Given the description of an element on the screen output the (x, y) to click on. 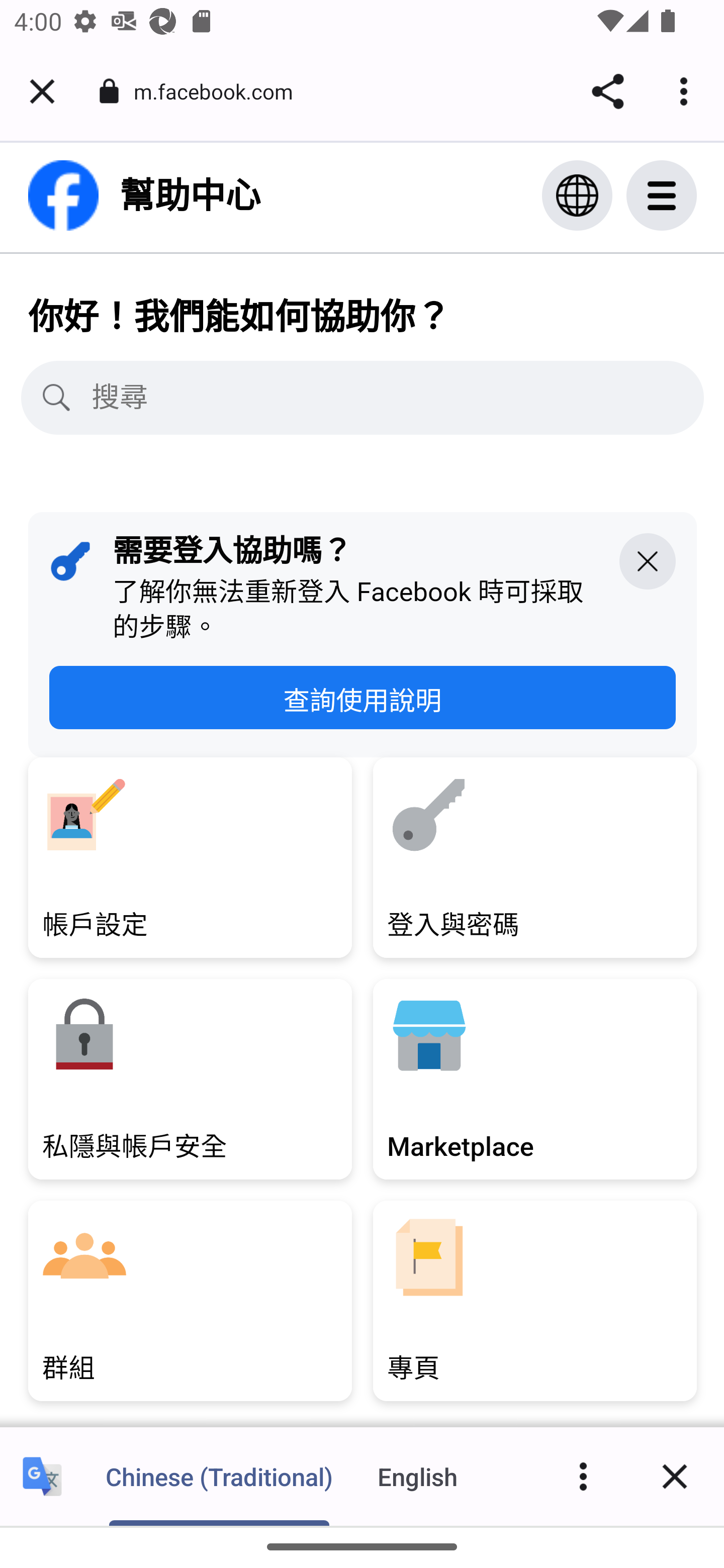
Close tab (42, 91)
Share (607, 91)
More options (687, 91)
Connection is secure (108, 91)
m.facebook.com (219, 90)
幫助中心 S9-8mgjtmdP 幫助中心 (144, 197)
選擇語言版本 (577, 197)
幫助中心選單 (682, 197)
關閉 (647, 562)
查詢使用說明 (362, 699)
English (417, 1475)
More options (582, 1475)
Close (674, 1475)
